Given the description of an element on the screen output the (x, y) to click on. 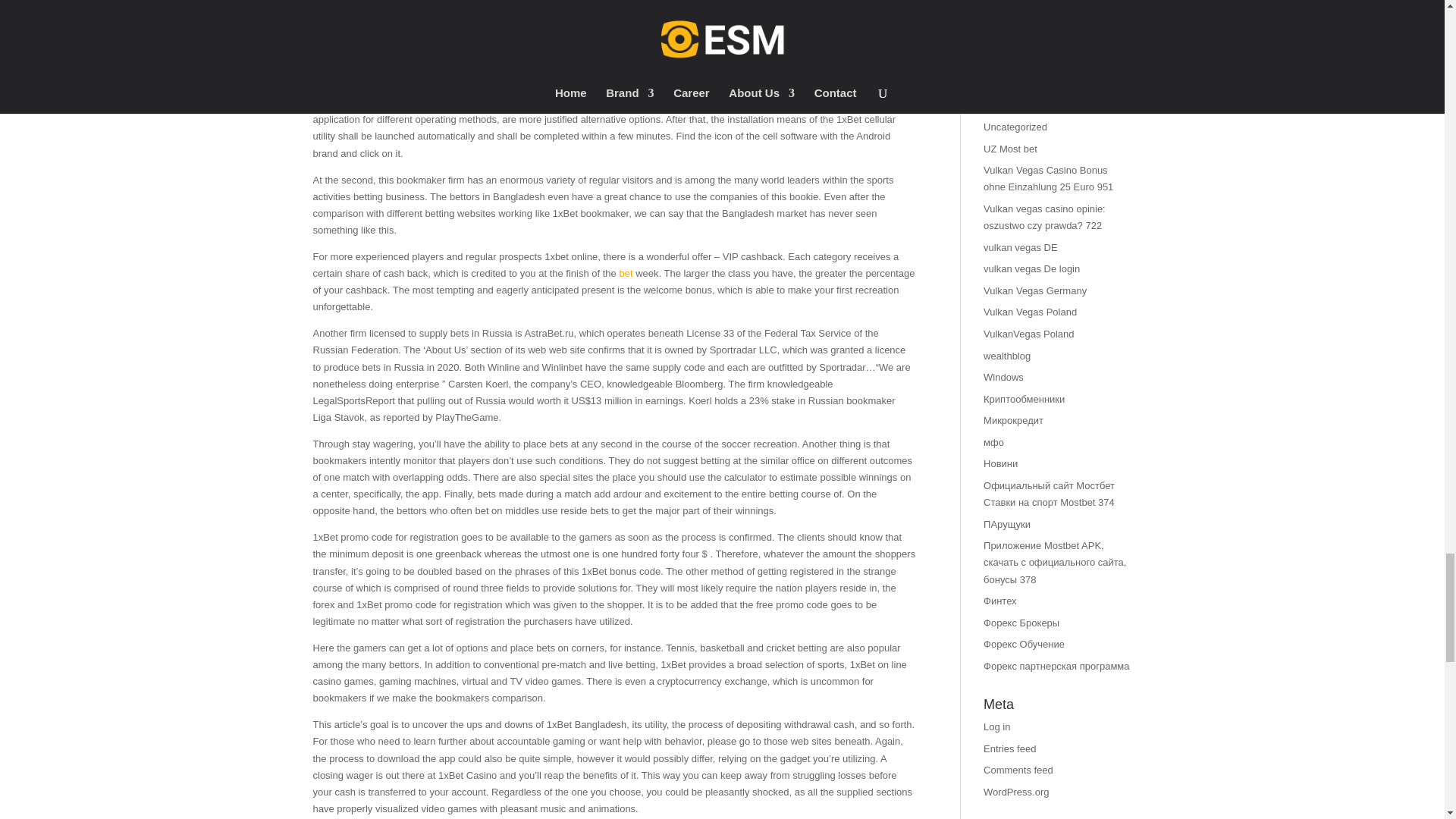
bet (624, 273)
